Given the description of an element on the screen output the (x, y) to click on. 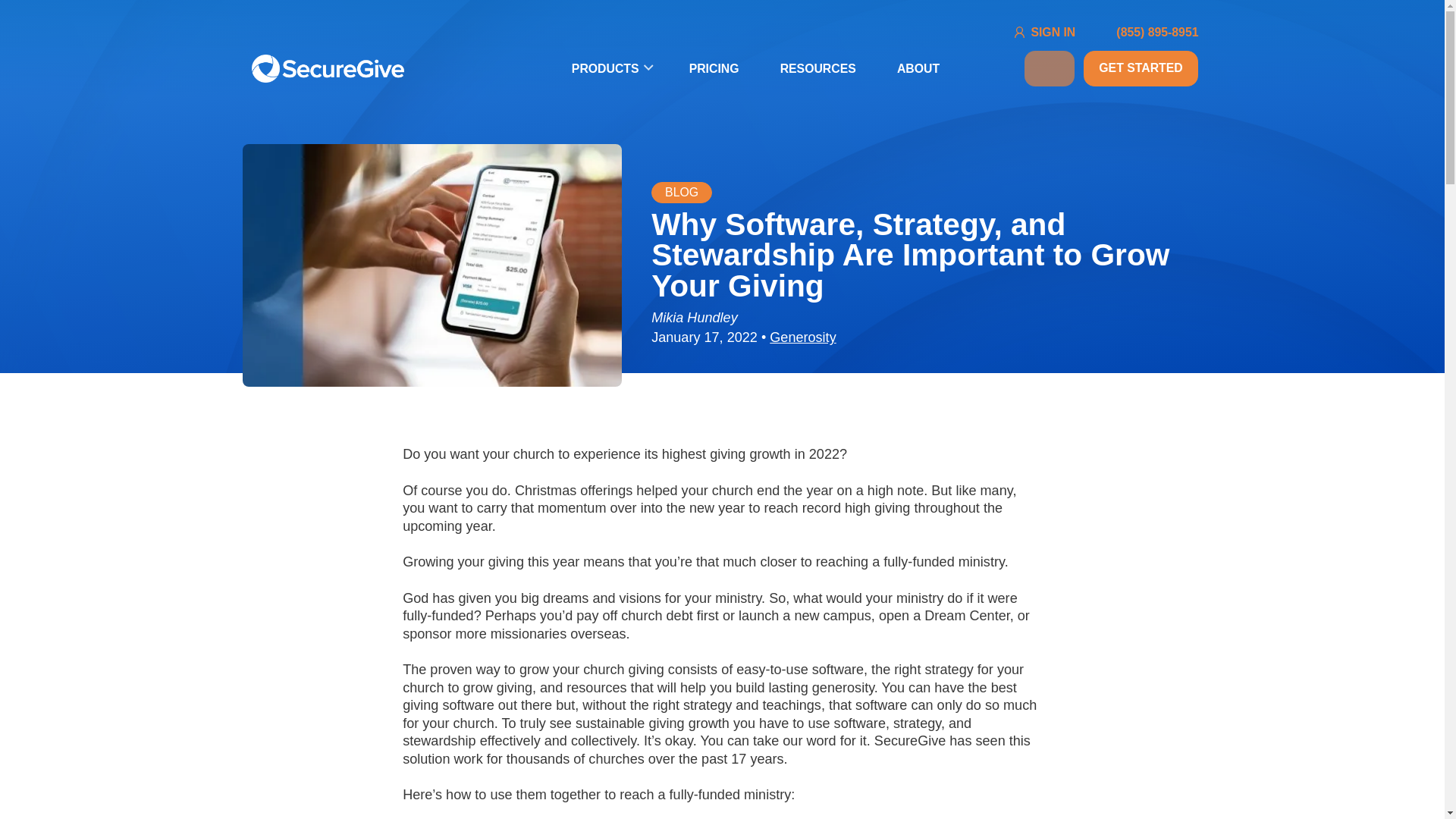
Generosity (802, 337)
PRICING (713, 68)
ABOUT (918, 68)
PRODUCTS (610, 68)
SIGN IN (1053, 31)
RESOURCES (817, 68)
GET STARTED (1140, 67)
